Given the description of an element on the screen output the (x, y) to click on. 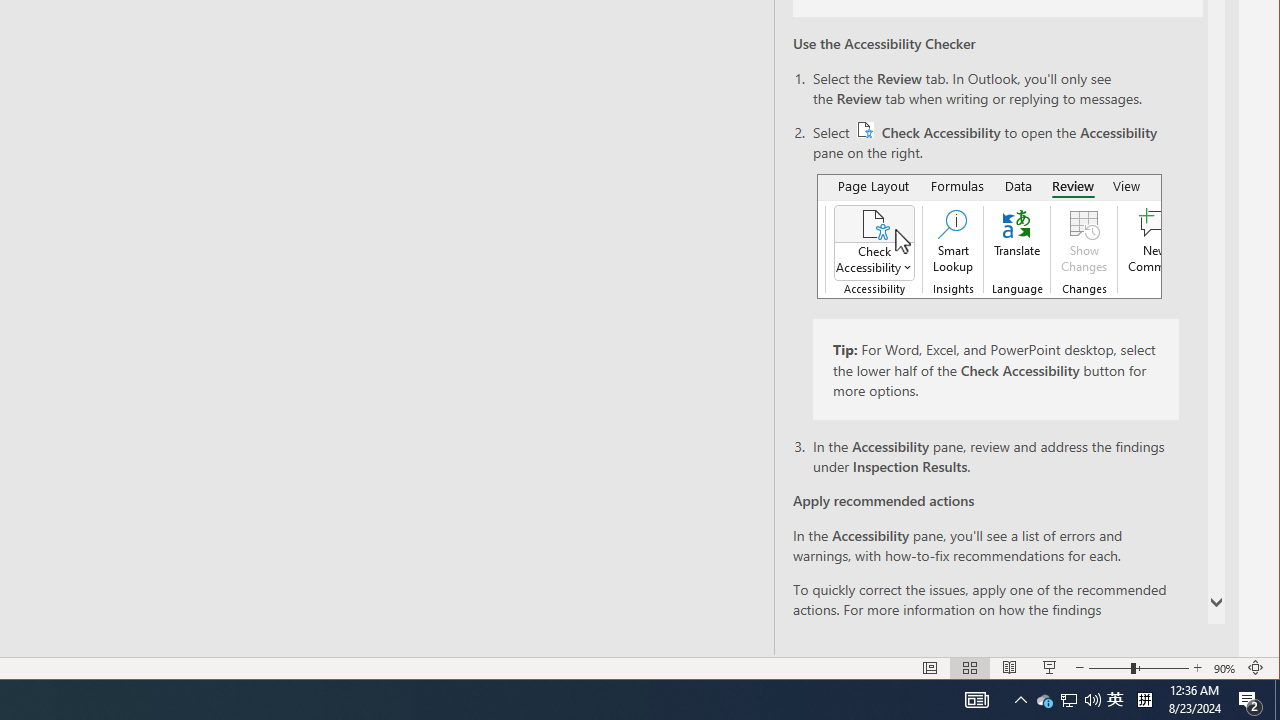
Check accessibility button (865, 129)
Q2790: 100% (1092, 699)
User Promoted Notification Area (1068, 699)
Action Center, 2 new notifications (1044, 699)
Zoom 90% (1250, 699)
